Given the description of an element on the screen output the (x, y) to click on. 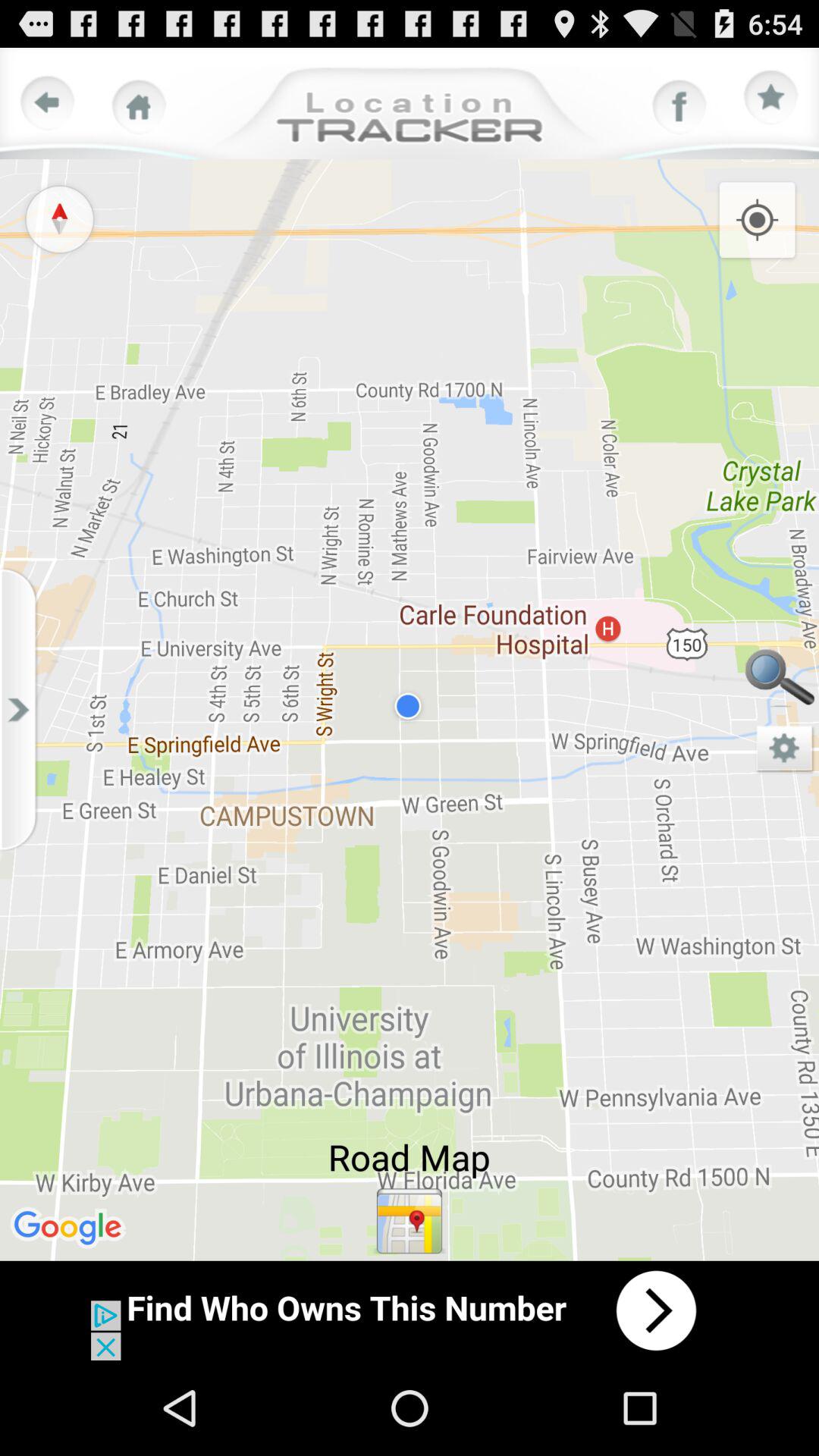
searching the correct peace (779, 680)
